Given the description of an element on the screen output the (x, y) to click on. 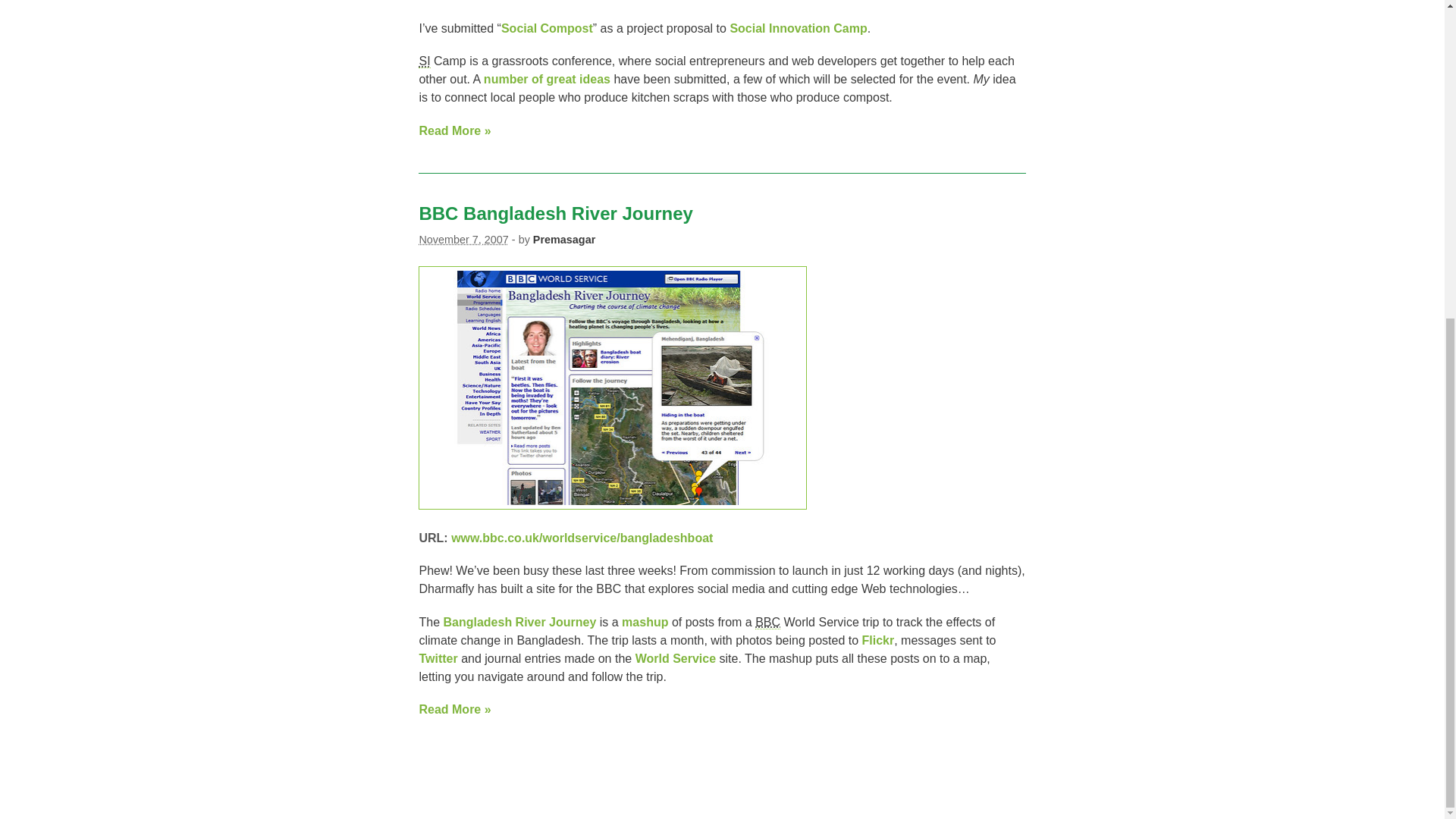
Social Compost: Liberate Your Peelings! (546, 28)
Submitted ideas to Social Innovation Camp (546, 78)
BBC World Service: Bangladesh River Journey (612, 504)
Permalink to BBC Bangladesh River Journey (556, 213)
Twitter (438, 658)
Flickr (878, 640)
BBC Bangladesh River Journey (556, 213)
World Service (675, 658)
View all posts by Premasagar (563, 239)
Bangladesh River Journey (518, 621)
